Given the description of an element on the screen output the (x, y) to click on. 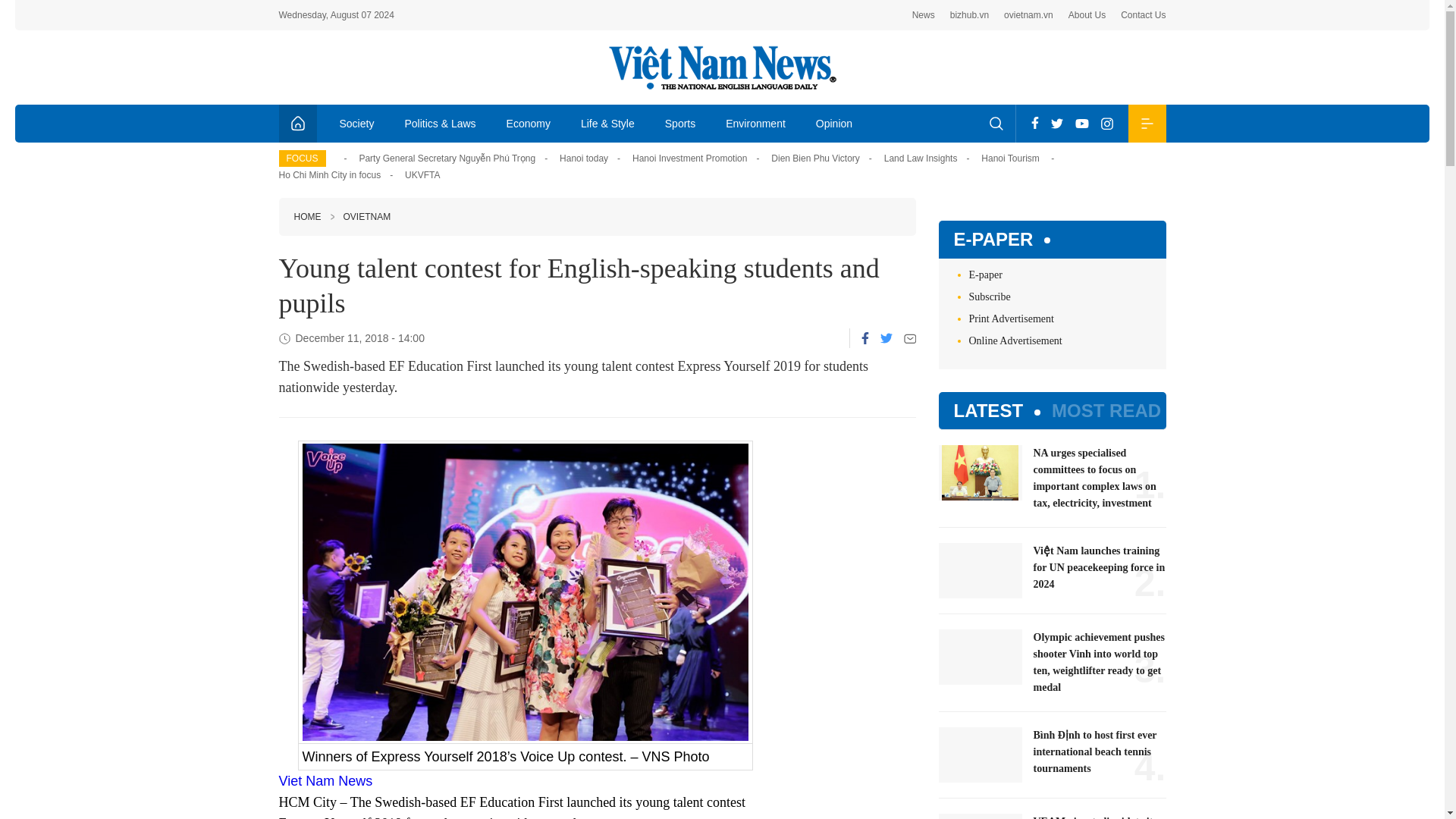
Email (909, 338)
Twitter (885, 337)
Society (357, 123)
ovietnam.vn (1028, 15)
About Us (1086, 15)
Contact Us (1143, 15)
Economy (529, 123)
Facebook (865, 337)
Instagram (1106, 123)
Viet Nam News (325, 780)
News (923, 15)
Facebook (1035, 123)
Twitter (1056, 122)
Youtube (1081, 122)
bizhub.vn (969, 15)
